Given the description of an element on the screen output the (x, y) to click on. 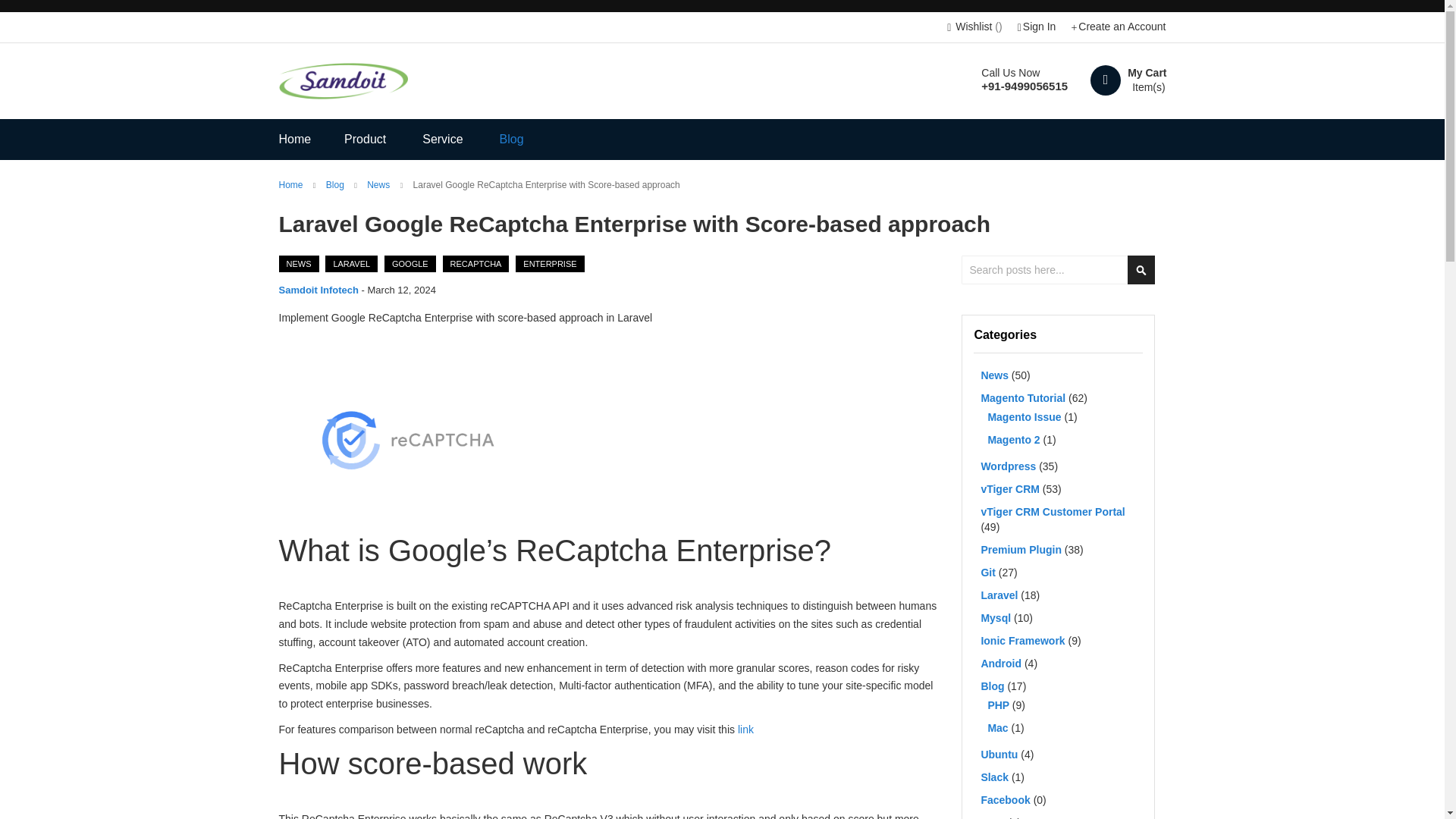
News (298, 263)
Blog (511, 138)
vTiger CRM (1010, 489)
ENTERPRISE (549, 263)
Home (292, 184)
Wishlist (974, 27)
RECAPTCHA (475, 263)
GOOGLE (409, 263)
Sign In (1037, 27)
Search (1140, 269)
